Given the description of an element on the screen output the (x, y) to click on. 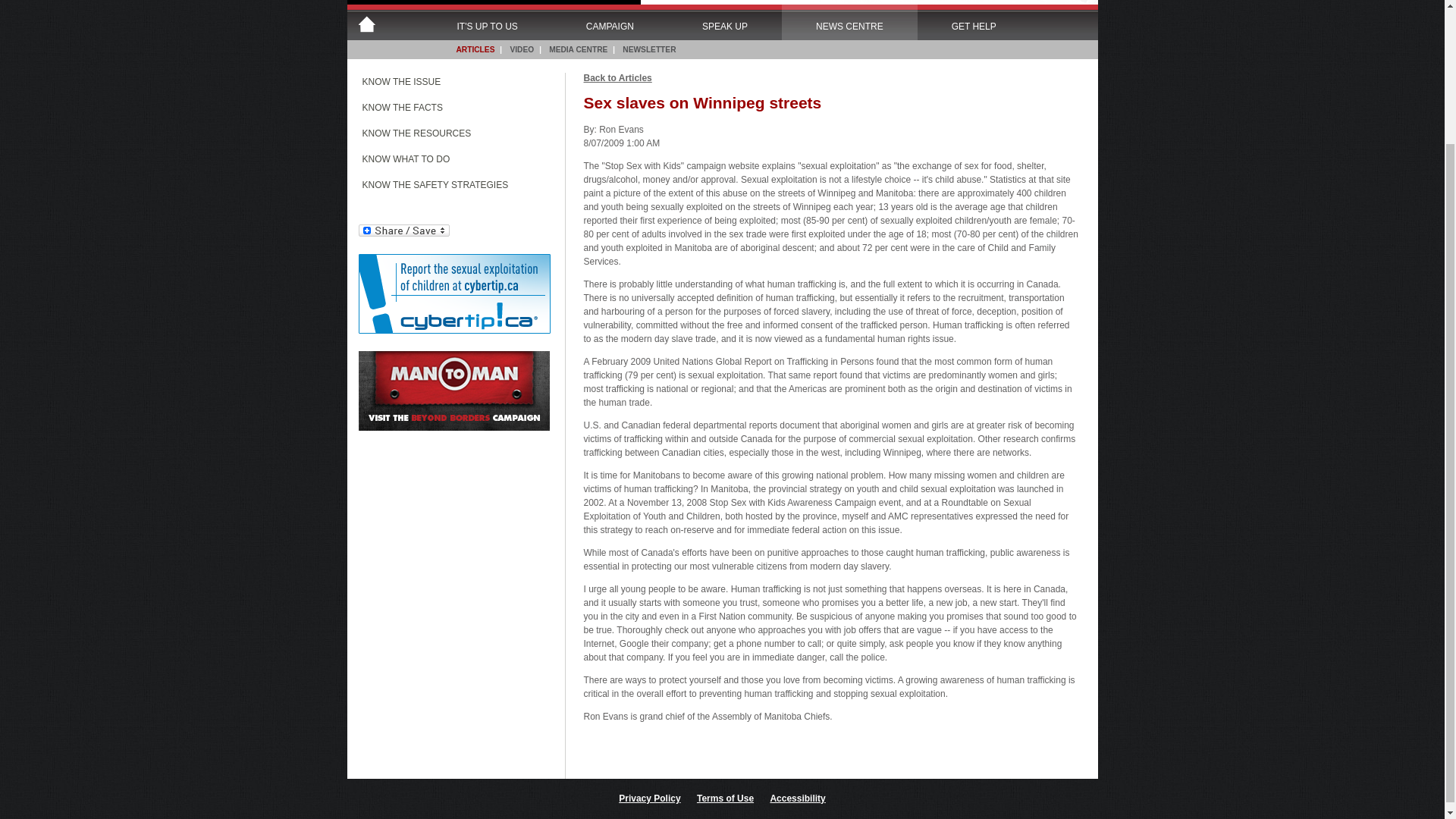
NEWS CENTRE (849, 22)
NEWSLETTER (648, 49)
SPEAK UP (724, 22)
KNOW THE ISSUE (449, 85)
CAMPAIGN (609, 22)
GET HELP (973, 22)
KNOW THE FACTS (449, 111)
VIDEO (521, 49)
IT'S UP TO US (487, 22)
KNOW THE RESOURCES (449, 136)
